Given the description of an element on the screen output the (x, y) to click on. 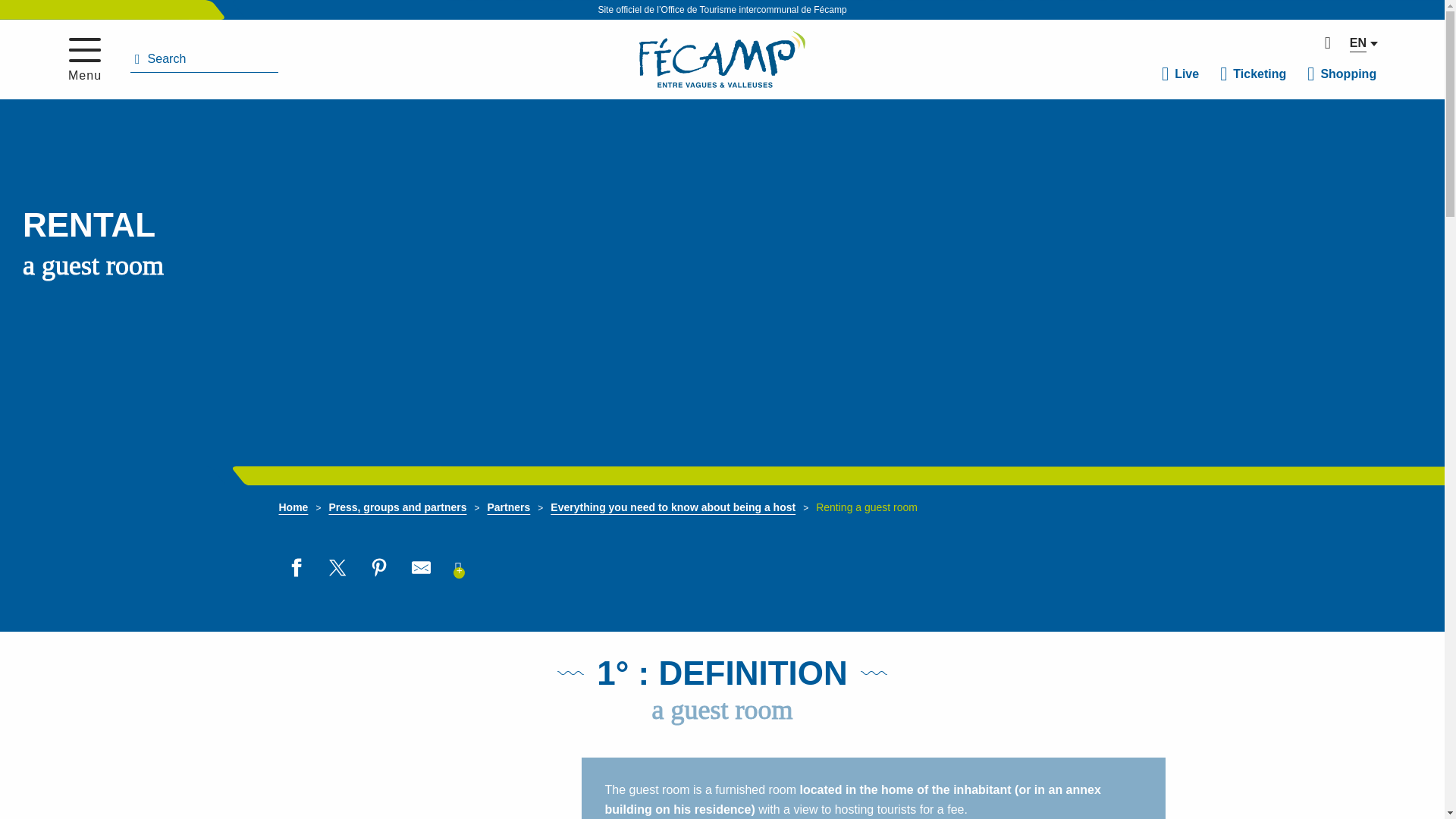
Everything you need to know about being a host (672, 507)
Partners (507, 507)
Share on Facebook (296, 567)
Press, groups and partners (397, 507)
Home (293, 507)
Share on Twitter (336, 567)
Share on Pinterest (379, 567)
Share by email (420, 567)
